Given the description of an element on the screen output the (x, y) to click on. 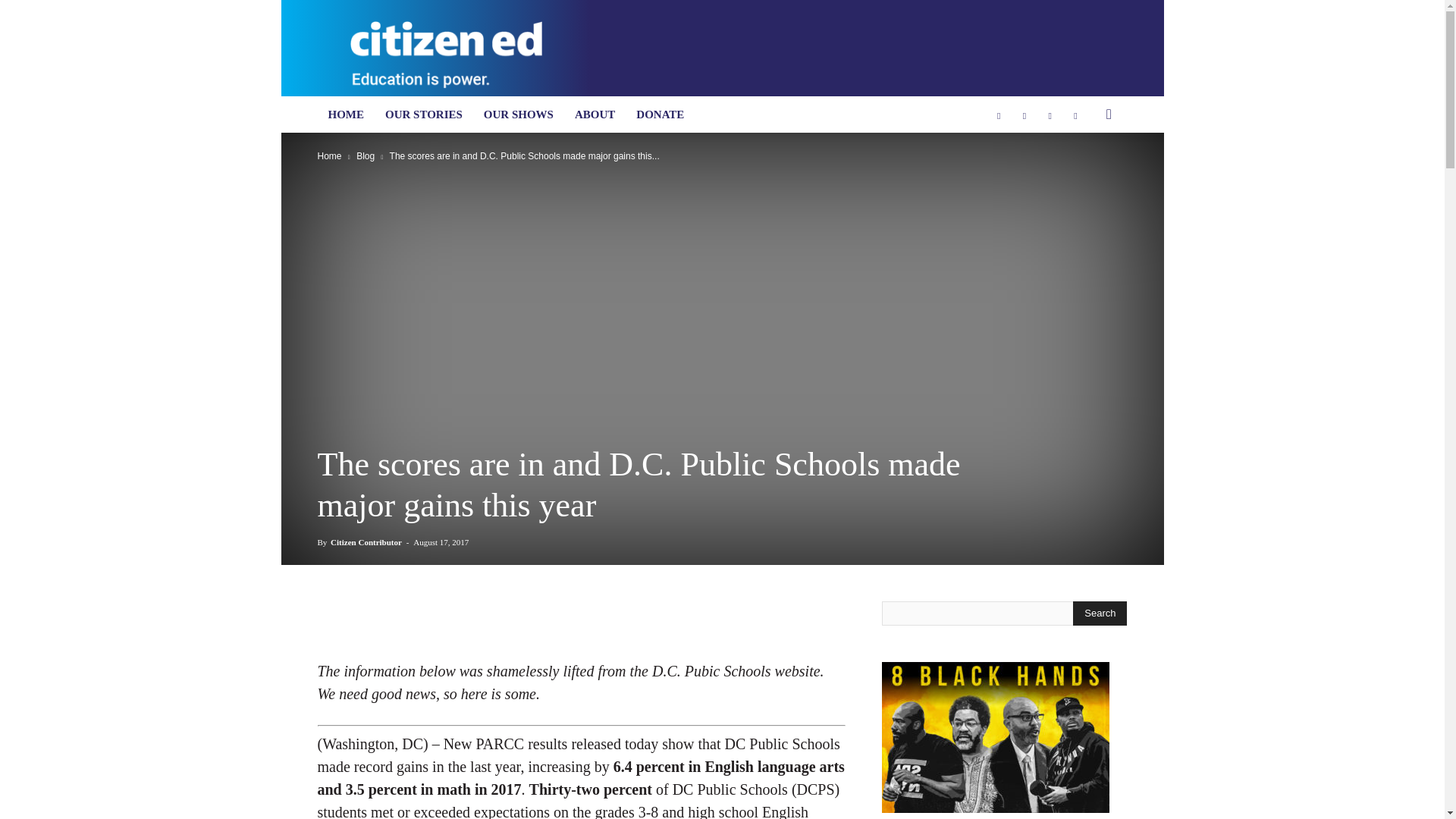
OUR STORIES (423, 114)
OUR SHOWS (518, 114)
Search (1099, 613)
Search (1085, 174)
HOME (345, 114)
Citizen Contributor (365, 542)
DONATE (660, 114)
Blog (365, 155)
ABOUT (595, 114)
View all posts in Blog (365, 155)
Facebook (998, 114)
Instagram (1024, 114)
Youtube (1075, 114)
Home (328, 155)
Twitter (1050, 114)
